Given the description of an element on the screen output the (x, y) to click on. 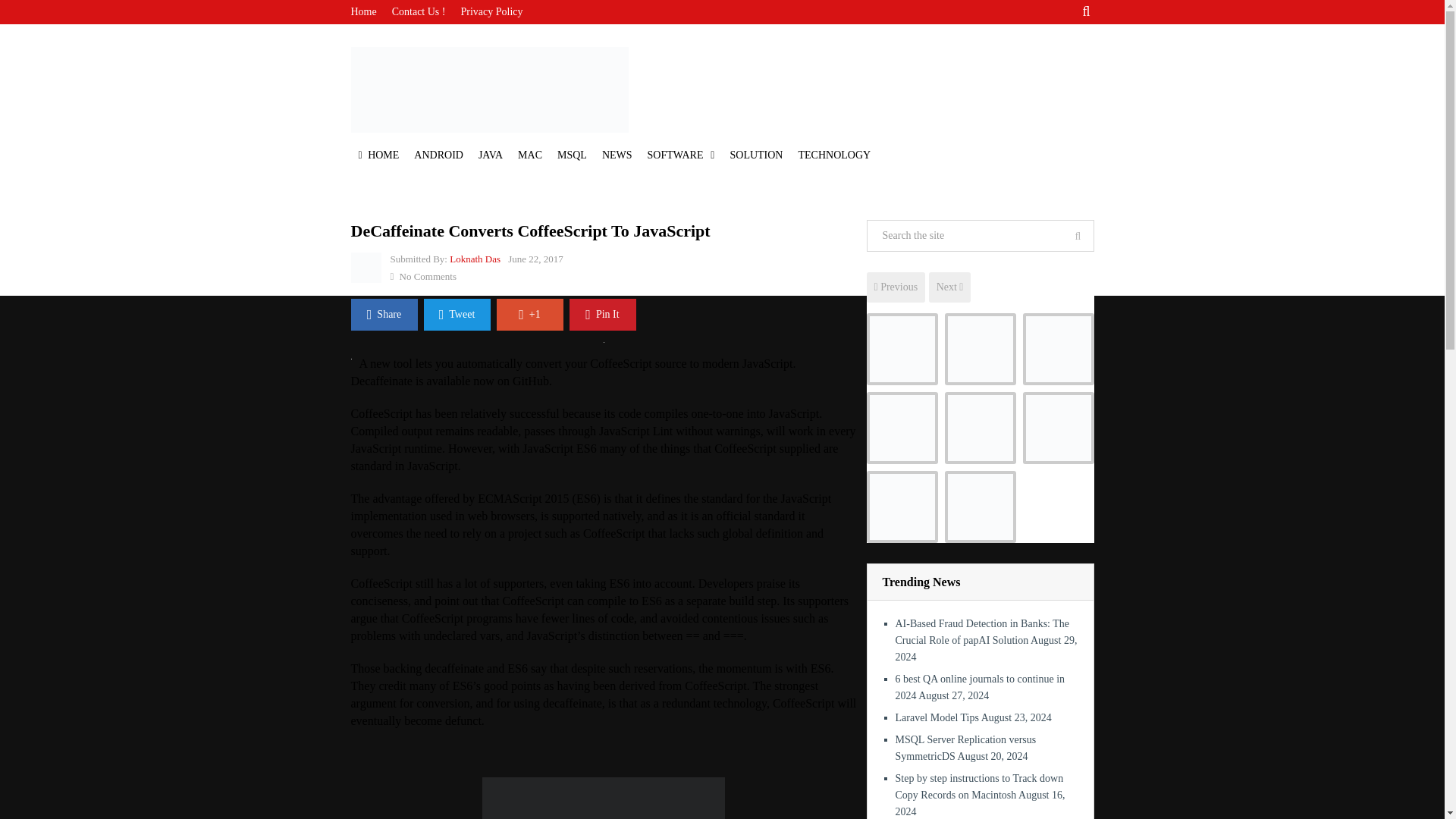
Pin It (601, 314)
Posts by Loknath Das (474, 258)
Next (949, 286)
Previous (895, 286)
6 best QA online journals to continue in 2024 (979, 687)
Laravel Model Tips (1057, 348)
Loknath Das (474, 258)
NEWS (617, 155)
Tweet (456, 314)
